Given the description of an element on the screen output the (x, y) to click on. 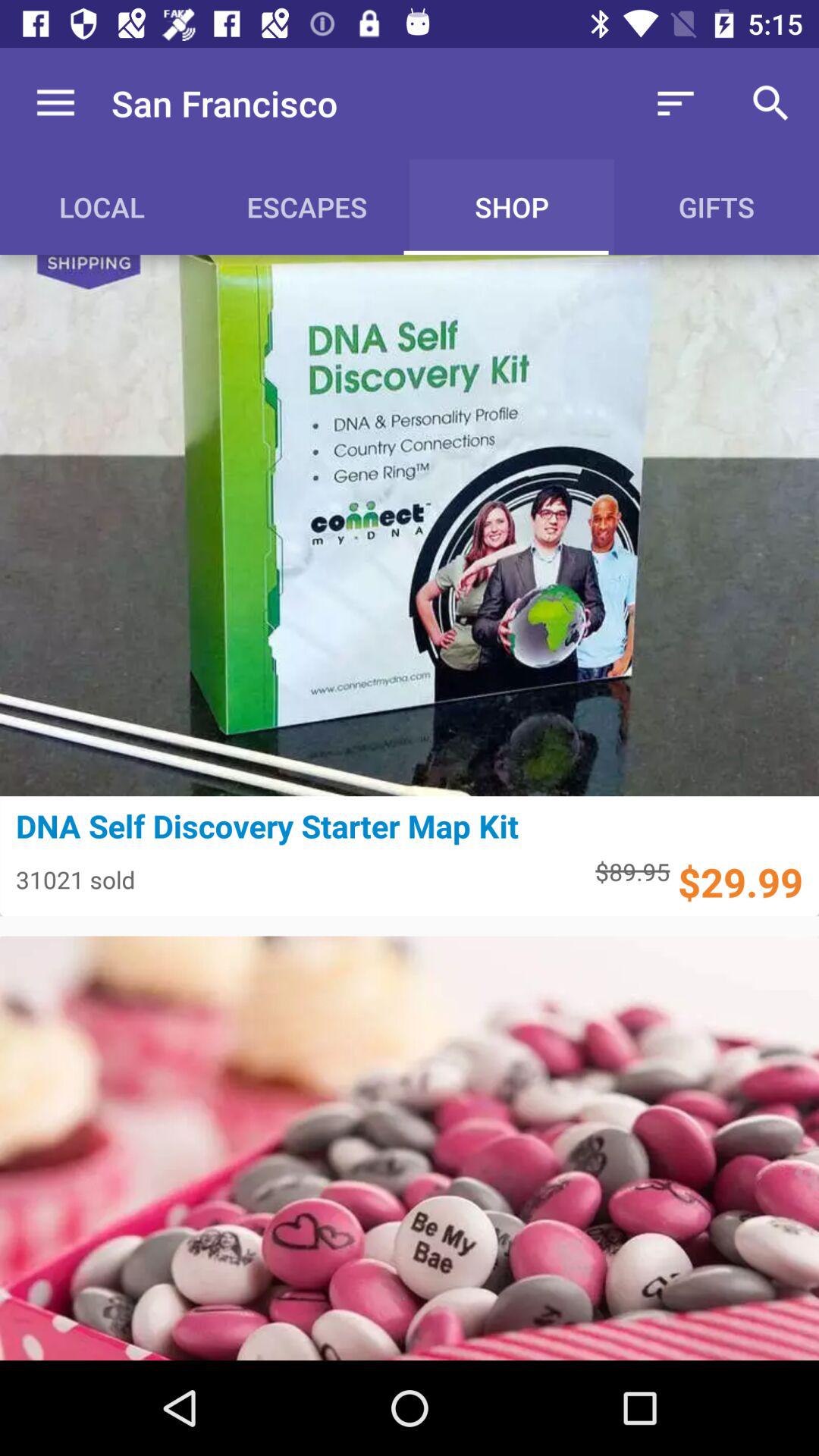
click the item next to the san francisco item (675, 103)
